Given the description of an element on the screen output the (x, y) to click on. 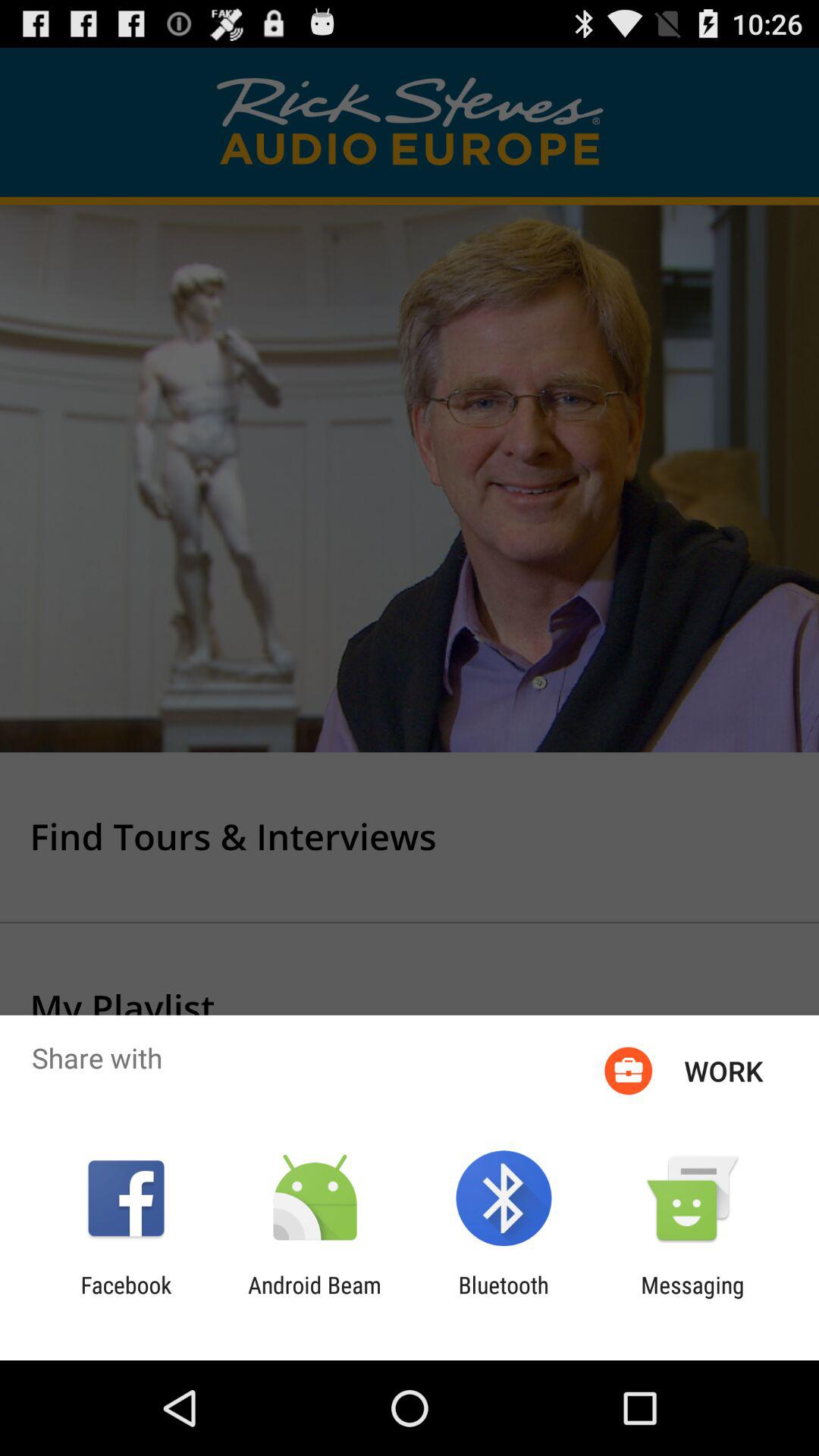
launch the item to the left of messaging icon (503, 1298)
